Given the description of an element on the screen output the (x, y) to click on. 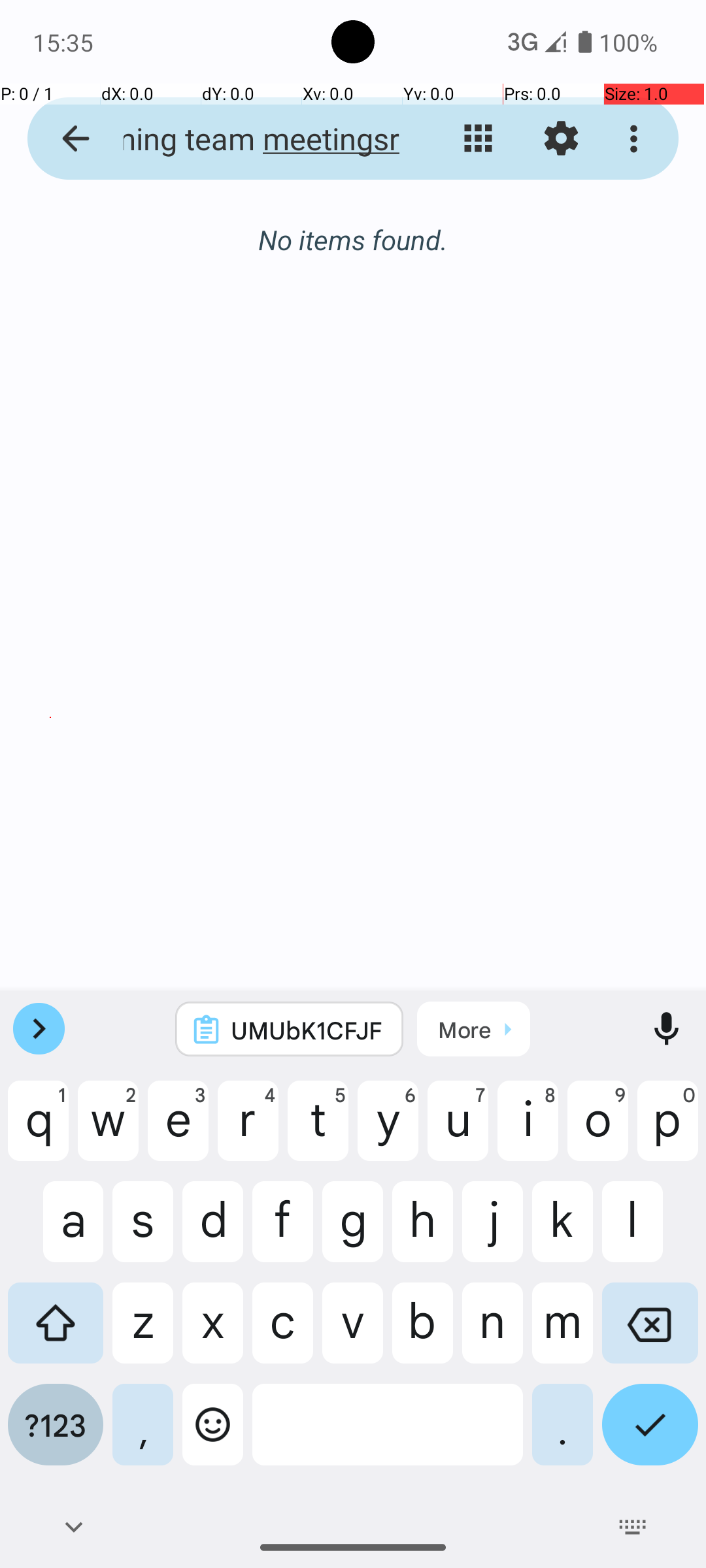
meeting schedule foupcoming team meetingsr next week Element type: android.widget.EditText (252, 138)
